Given the description of an element on the screen output the (x, y) to click on. 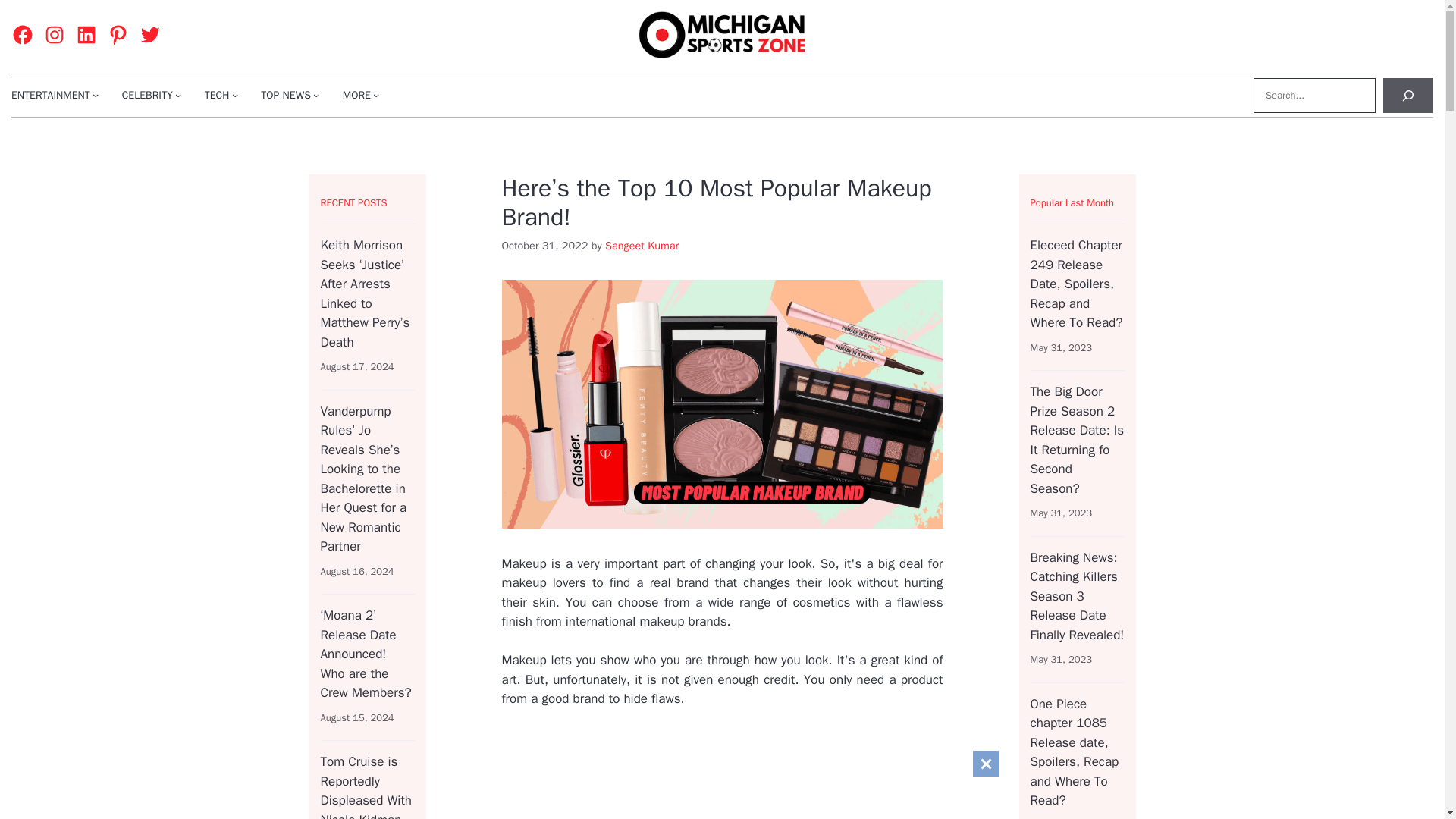
View all posts by Sangeet Kumar (641, 245)
Instagram (54, 34)
CELEBRITY (147, 94)
Sangeet Kumar (641, 245)
TECH (217, 94)
Twitter (149, 34)
MORE (356, 94)
TOP NEWS (285, 94)
LinkedIn (86, 34)
ENTERTAINMENT (50, 94)
